Given the description of an element on the screen output the (x, y) to click on. 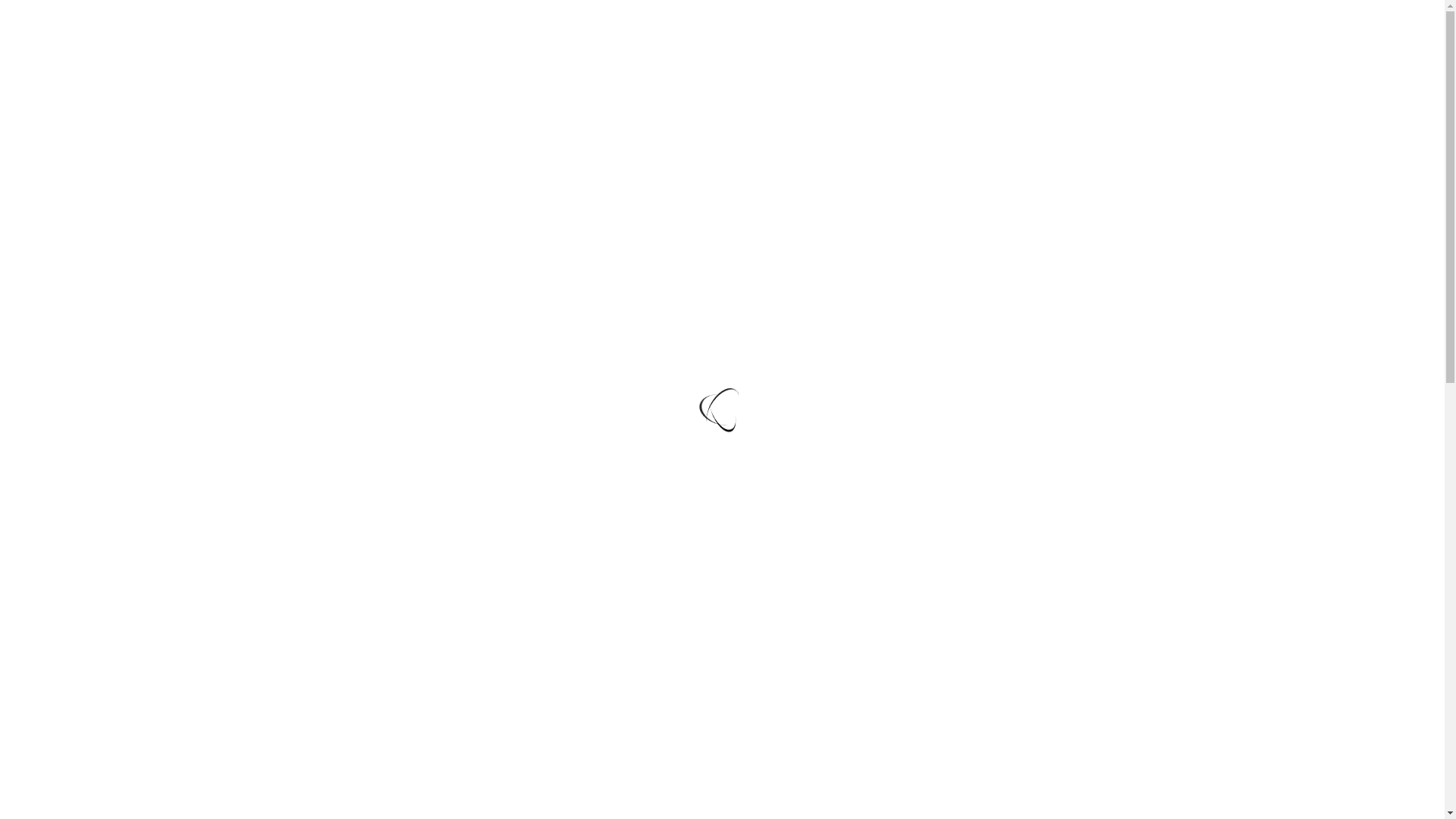
Galeries de photos Element type: text (749, 68)
Liens Element type: text (1135, 68)
 Allemand Element type: text (1232, 68)
Bienvenue Element type: text (296, 126)
Sonnailles Element type: text (435, 68)
Contact Element type: text (947, 68)
  Forgerons de sonnailles Bartenbach Element type: text (502, 21)
Video Element type: text (864, 68)
Exposition Element type: text (1045, 68)
  info@bartenbach.ch Element type: text (978, 21)
Histoire Element type: text (296, 210)
  +41 31 849 08 00 Element type: text (855, 21)
Toupins Element type: text (337, 68)
Courroies Element type: text (537, 68)
Cloche Element type: text (630, 68)
